Given the description of an element on the screen output the (x, y) to click on. 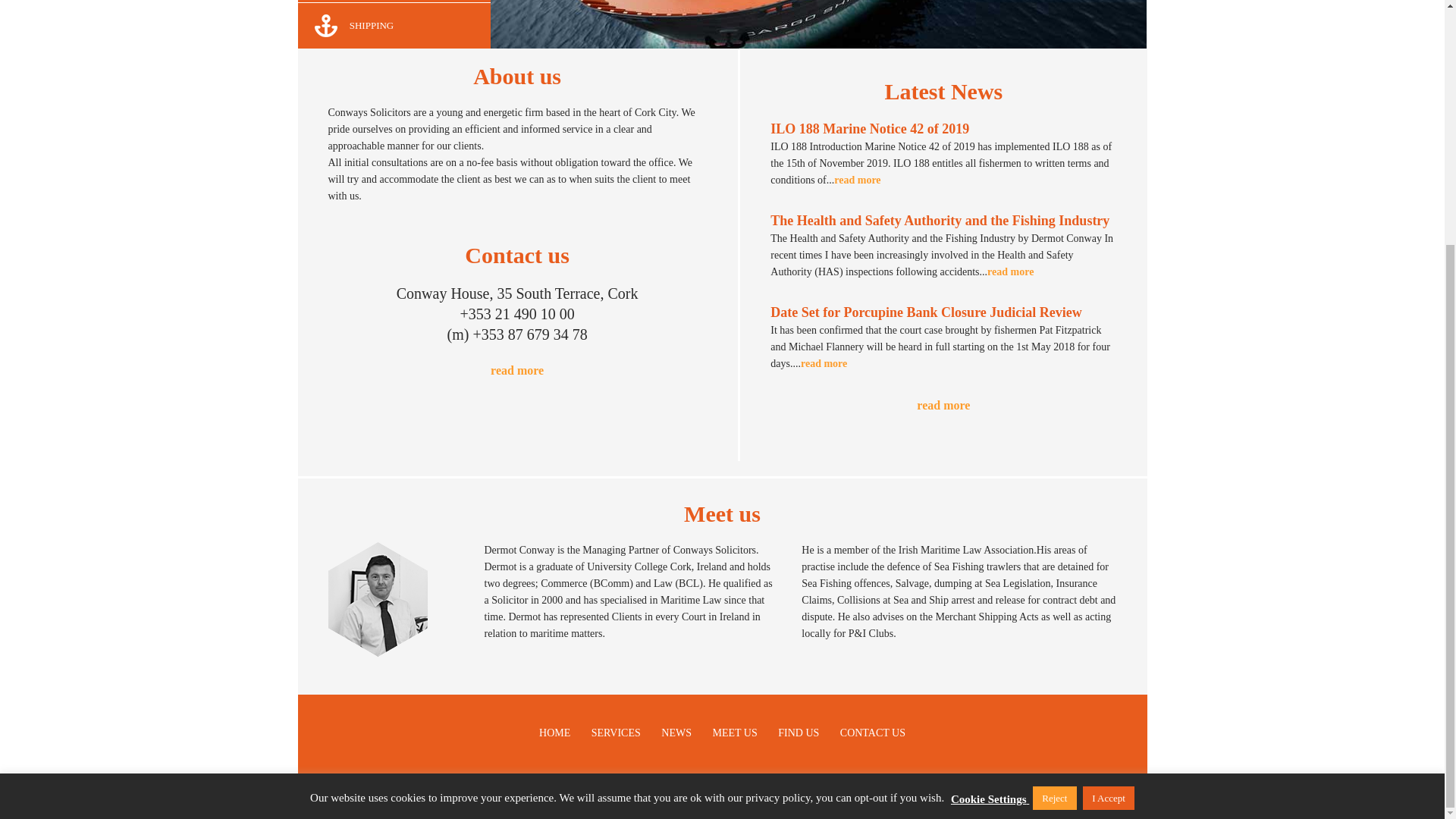
ILO 188 Marine Notice 42 of 2019 (869, 128)
ILO 188 Marine Notice 42 of 2019 (869, 128)
The Health and Safety Authority and the Fishing Industry (939, 220)
Date Set for Porcupine Bank Closure Judicial Review (823, 363)
The Health and Safety Authority and the Fishing Industry (1010, 271)
SHIPPING (393, 25)
Shipping (393, 25)
ILO 188 Marine Notice 42 of 2019 (857, 179)
read more (516, 369)
Date Set for Porcupine Bank Closure Judicial Review (925, 312)
